Given the description of an element on the screen output the (x, y) to click on. 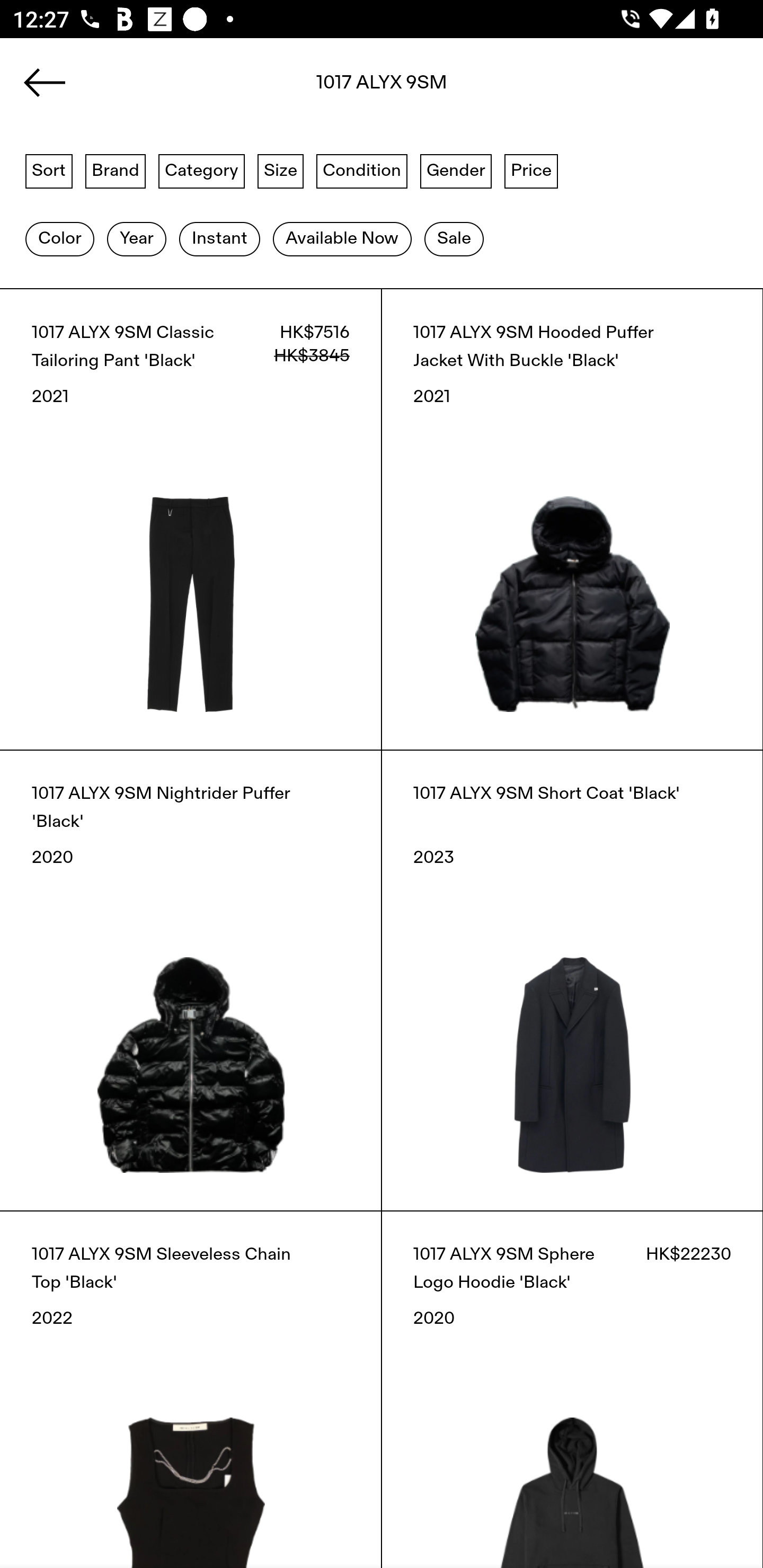
sandals (381, 88)
Sort (48, 170)
Brand (115, 170)
Category (201, 170)
Size (280, 170)
Condition (361, 170)
Gender (455, 170)
Price (530, 170)
Color (59, 239)
Year (136, 239)
Instant (219, 239)
Available Now (342, 239)
Sale (453, 239)
1017 ALYX 9SM Nightrider Puffer 'Black' 2020 (190, 979)
1017 ALYX 9SM Short Coat 'Black' 2023 (572, 979)
1017 ALYX 9SM Sleeveless Chain Top 'Black' 2022 (190, 1389)
